Given the description of an element on the screen output the (x, y) to click on. 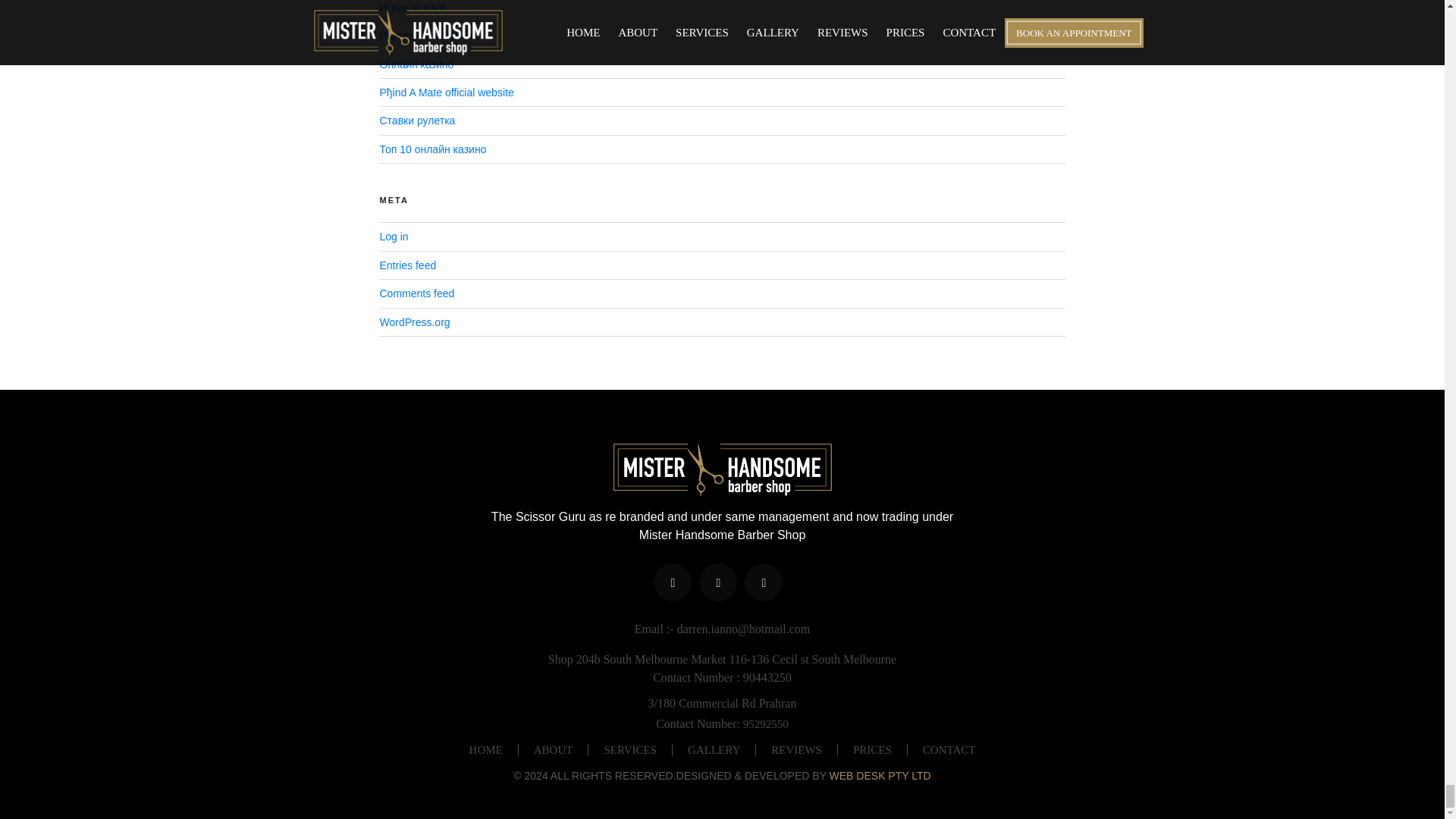
Services (629, 749)
Contact (949, 749)
About (553, 749)
Gallery (713, 749)
Prices (872, 749)
Home (486, 749)
Reviews (796, 749)
